Given the description of an element on the screen output the (x, y) to click on. 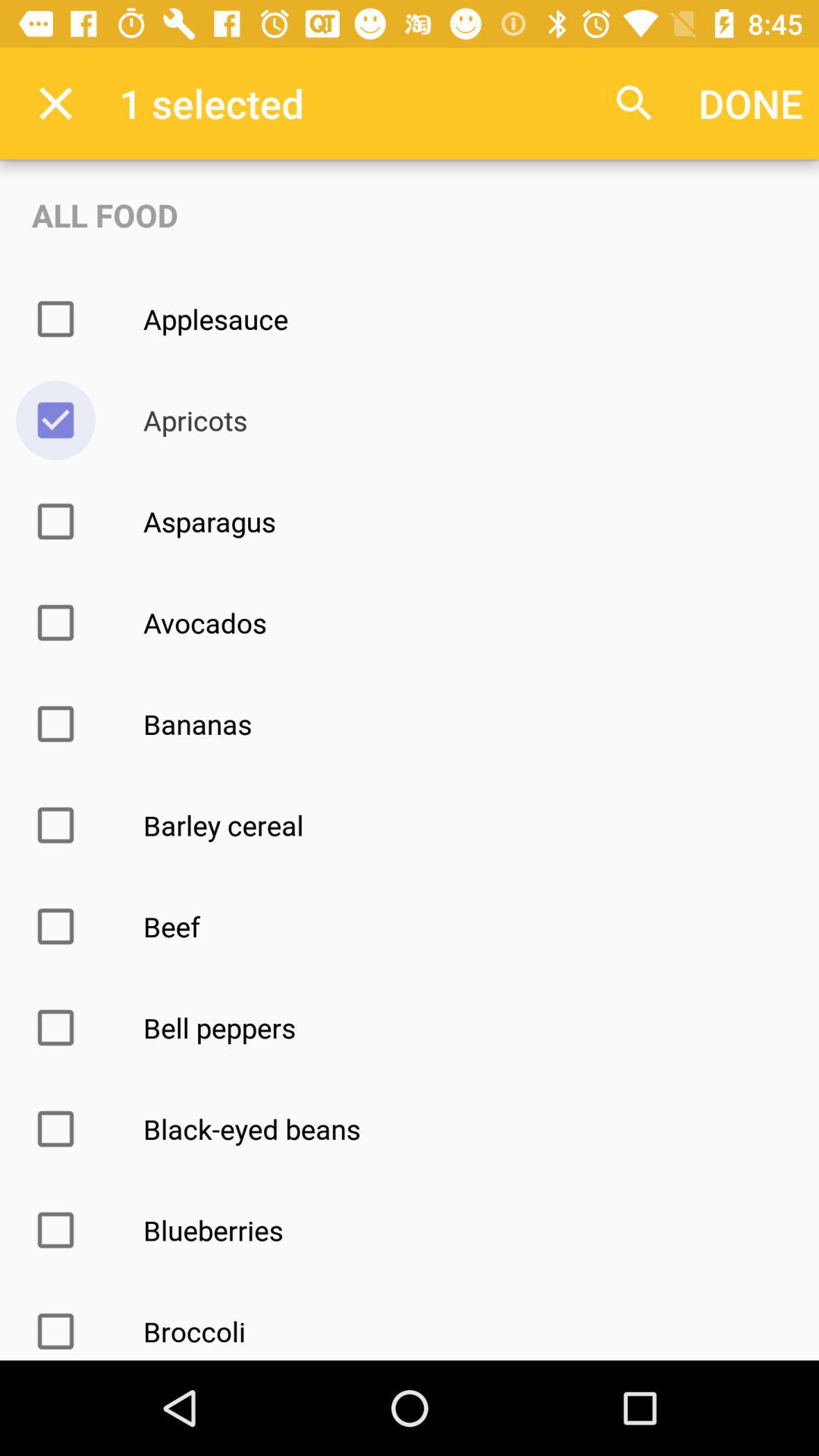
choose the done (750, 103)
